Given the description of an element on the screen output the (x, y) to click on. 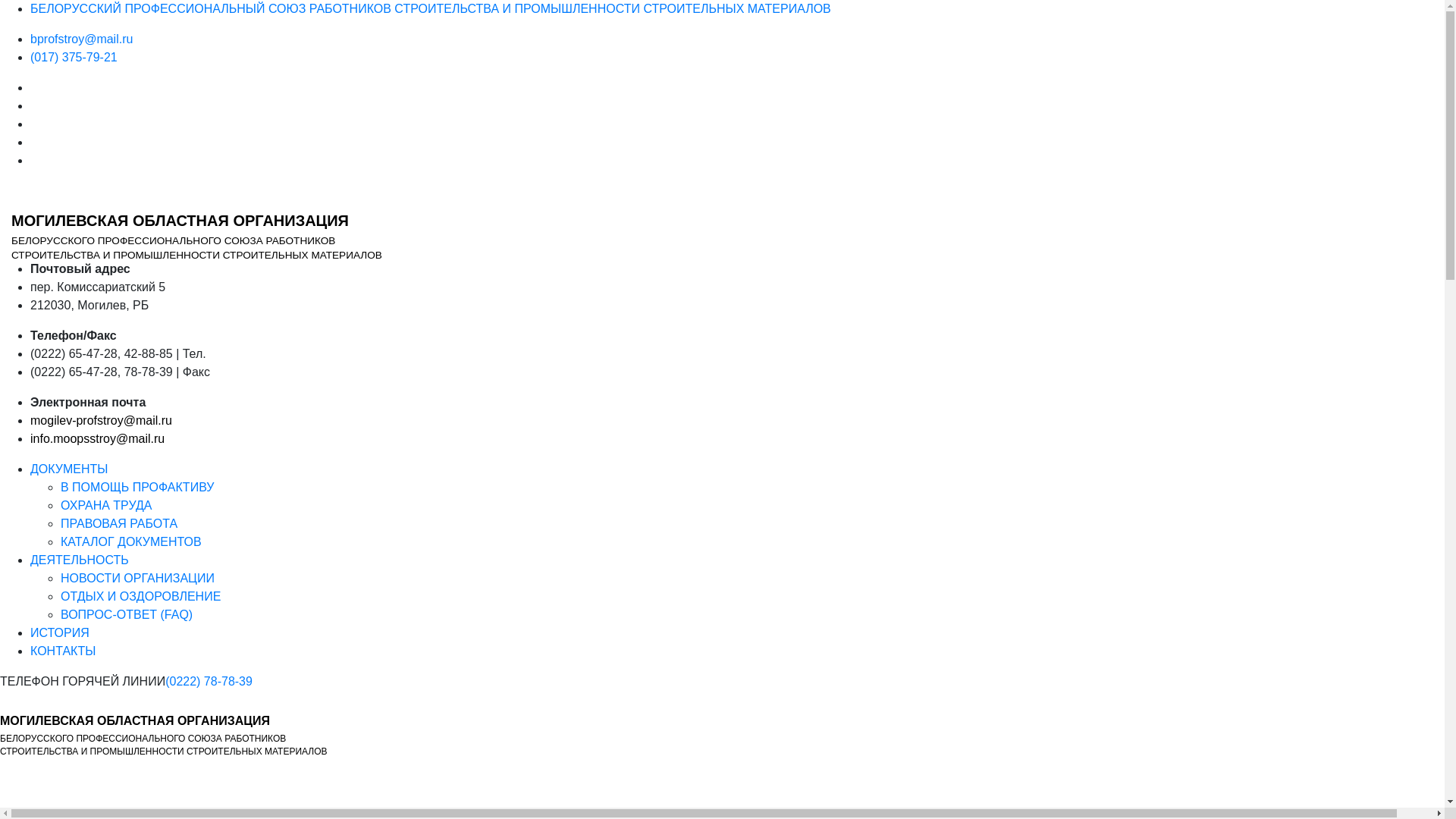
info.moopsstroy@mail.ru Element type: text (97, 438)
(017) 375-79-21 Element type: text (73, 56)
(0222) 78-78-39 Element type: text (208, 680)
mogilev-profstroy@mail.ru Element type: text (101, 420)
bprofstroy@mail.ru Element type: text (81, 38)
